Given the description of an element on the screen output the (x, y) to click on. 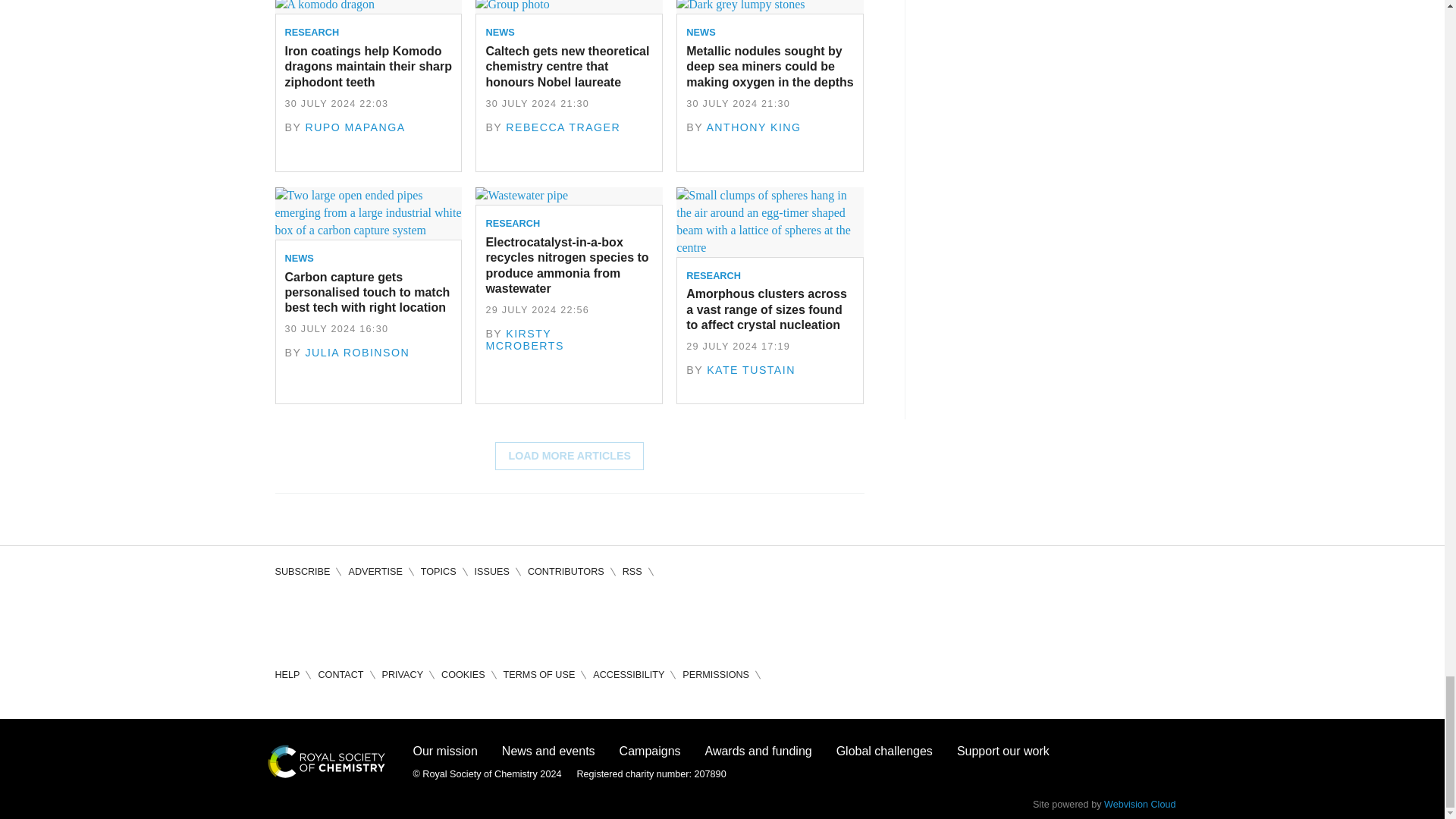
Follow on Facebook (287, 619)
Watch on Vimeo (416, 619)
Follow on Twitter (330, 619)
Connect on Linked in (373, 619)
